Given the description of an element on the screen output the (x, y) to click on. 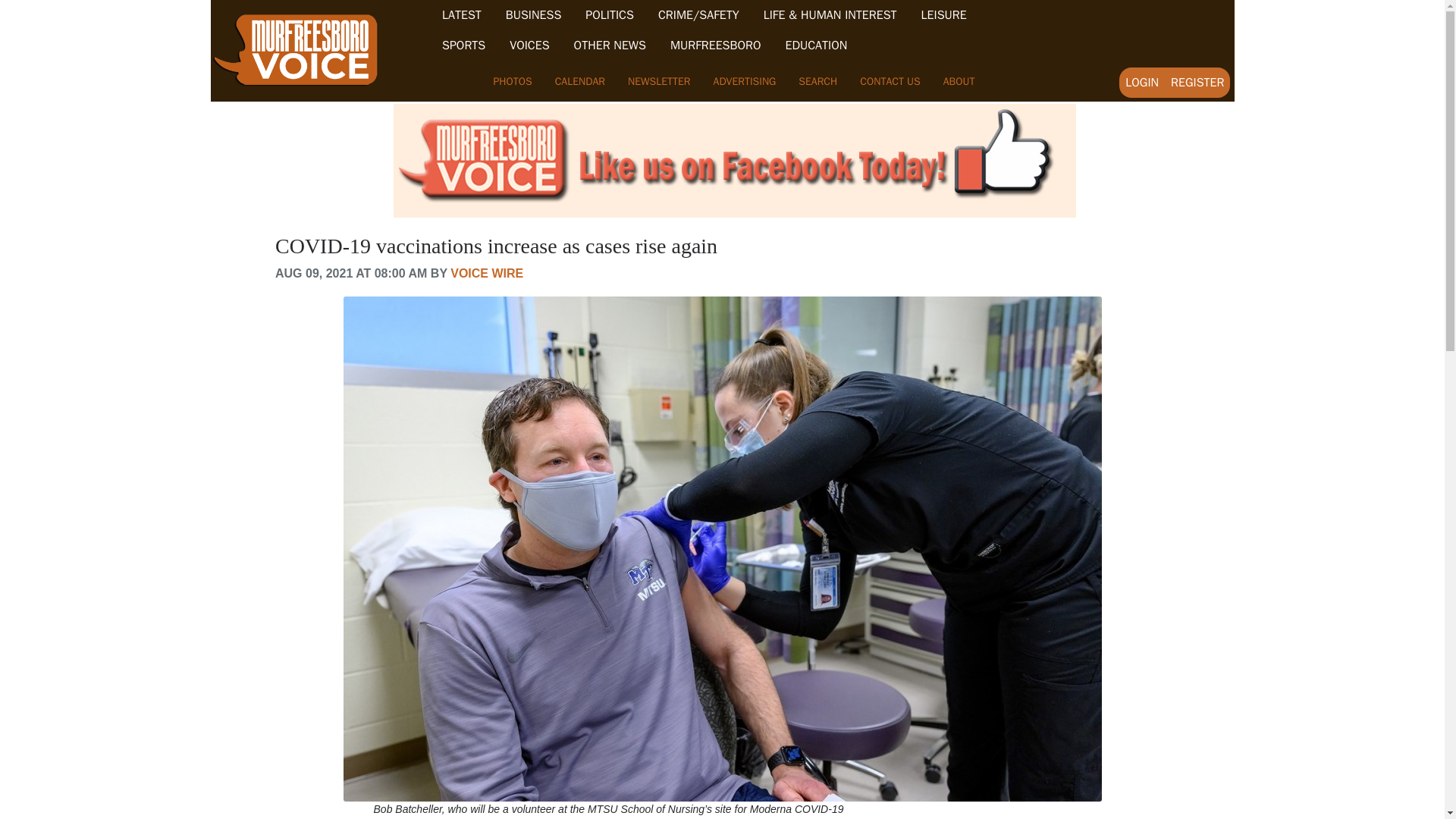
VOICES (528, 45)
EDUCATION (815, 45)
MURFREESBORO (715, 45)
VOICE WIRE (485, 273)
CONTACT US (890, 81)
POLITICS (609, 14)
REGISTER (1197, 82)
OTHER NEWS (609, 45)
NEWSLETTER (658, 81)
BUSINESS (533, 14)
ADVERTISING (744, 81)
LOGIN (1141, 82)
SEARCH (817, 81)
LEISURE (943, 14)
SPORTS (463, 45)
